Given the description of an element on the screen output the (x, y) to click on. 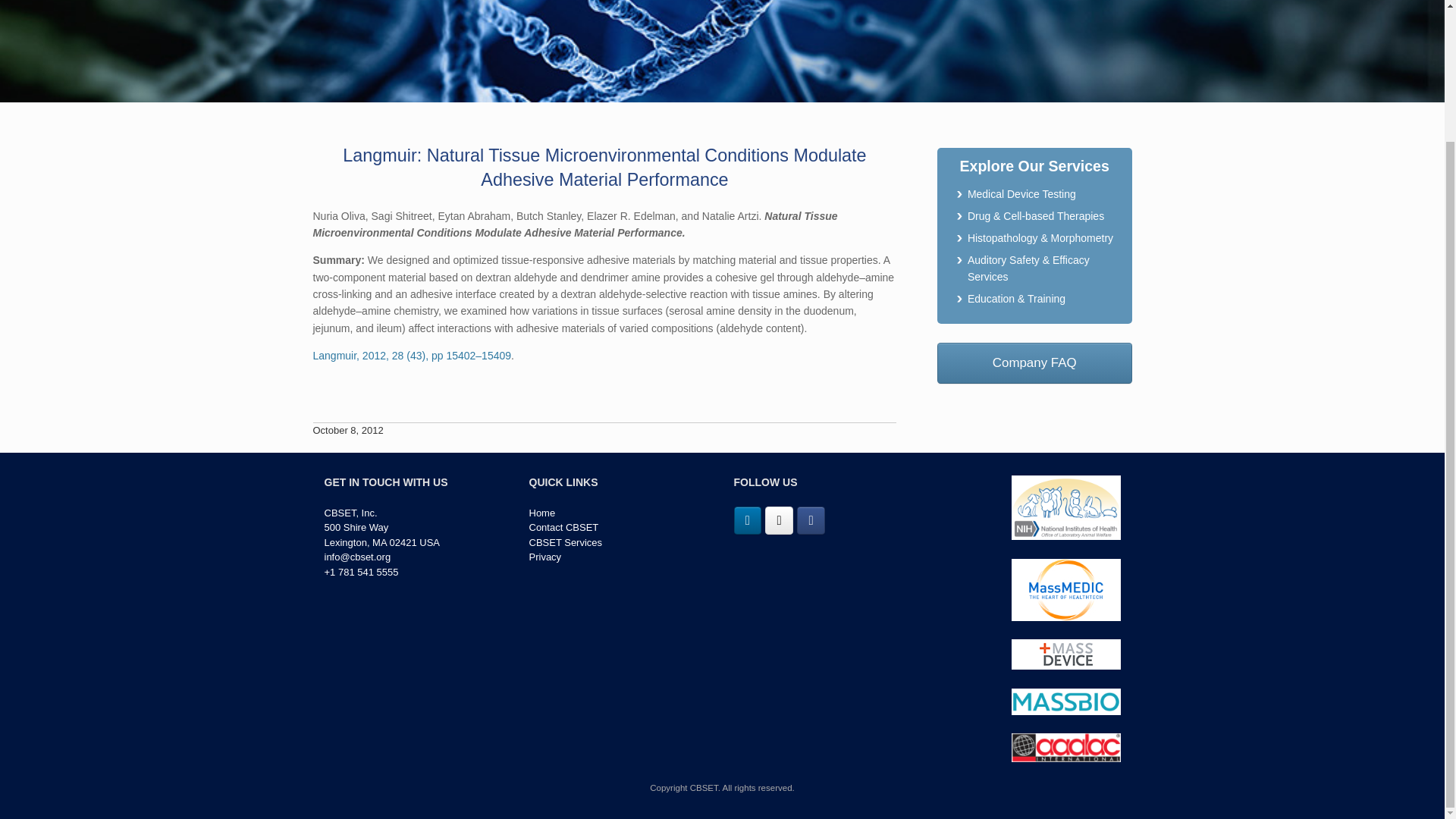
Contact CBSET (563, 527)
CBSET on Facebook (810, 520)
Privacy (545, 556)
CBSET on Linkedin (747, 520)
Home (542, 512)
Company FAQ (1034, 363)
CBSET on X Twitter (779, 520)
Medical Device Testing (1021, 193)
CBSET Services (565, 542)
